Given the description of an element on the screen output the (x, y) to click on. 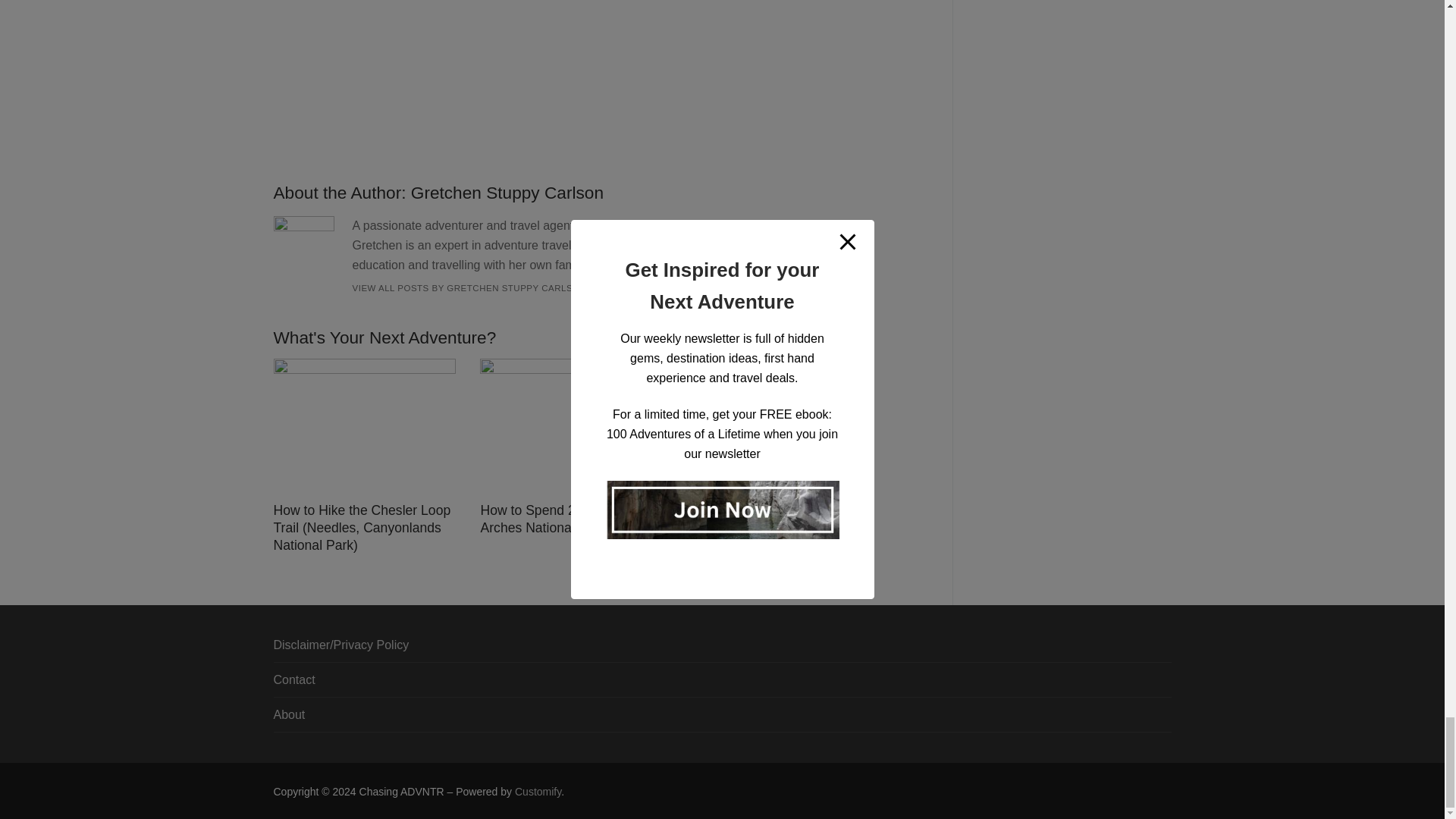
How to Spend 2 Days in Arches National Park (551, 518)
VIEW ALL POSTS BY GRETCHEN STUPPY CARLSON (469, 287)
The Best Resources to Plan Better Travel (778, 419)
How to Spend 2 Days in Arches National Park (551, 518)
The Best Resources to Plan Better Travel (770, 503)
WEBSITE (615, 287)
The Best Resources to Plan Better Travel (770, 503)
How to Spend 2 Days in Arches National Park (571, 427)
